Given the description of an element on the screen output the (x, y) to click on. 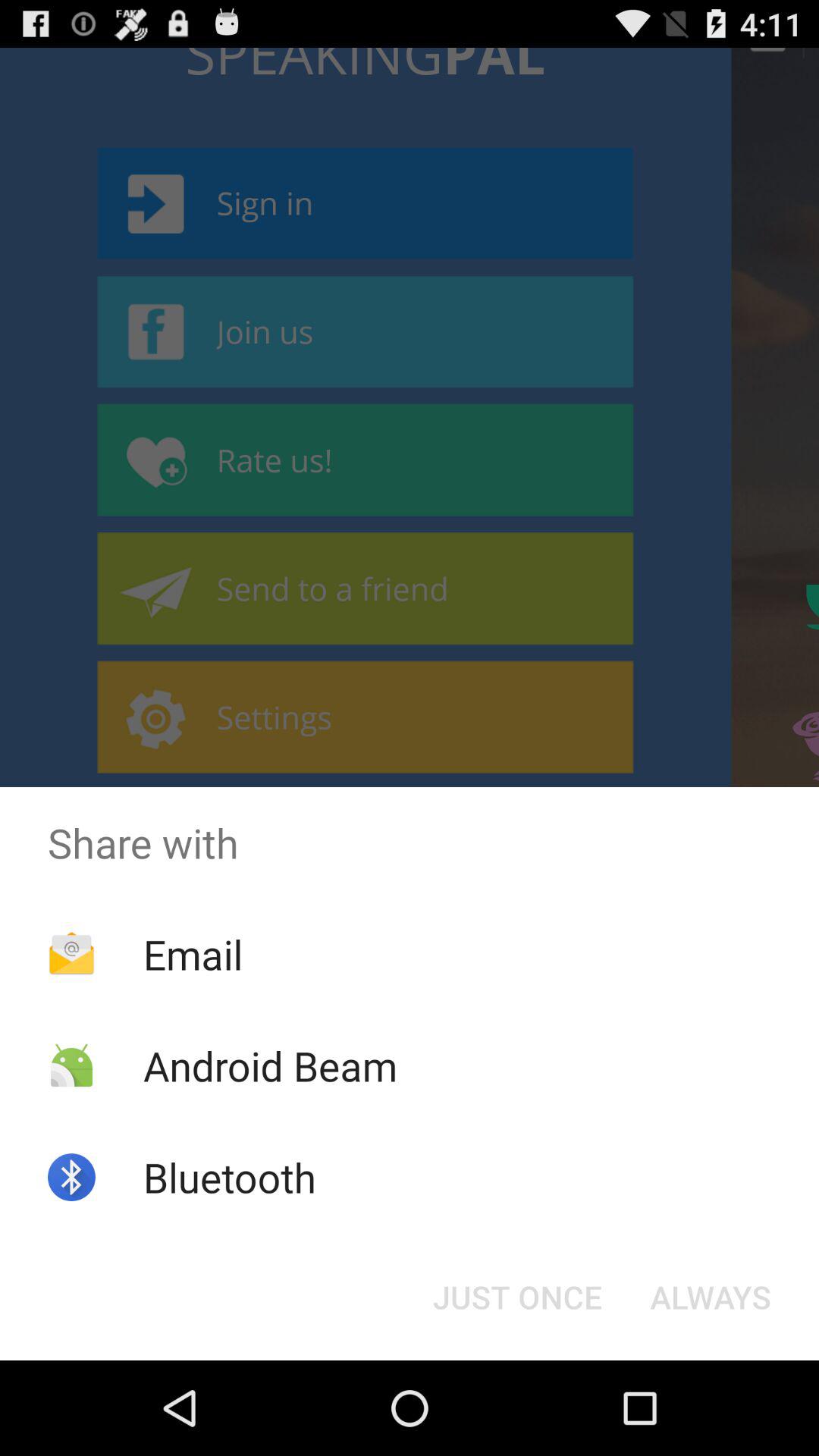
open the icon to the right of just once icon (710, 1296)
